Given the description of an element on the screen output the (x, y) to click on. 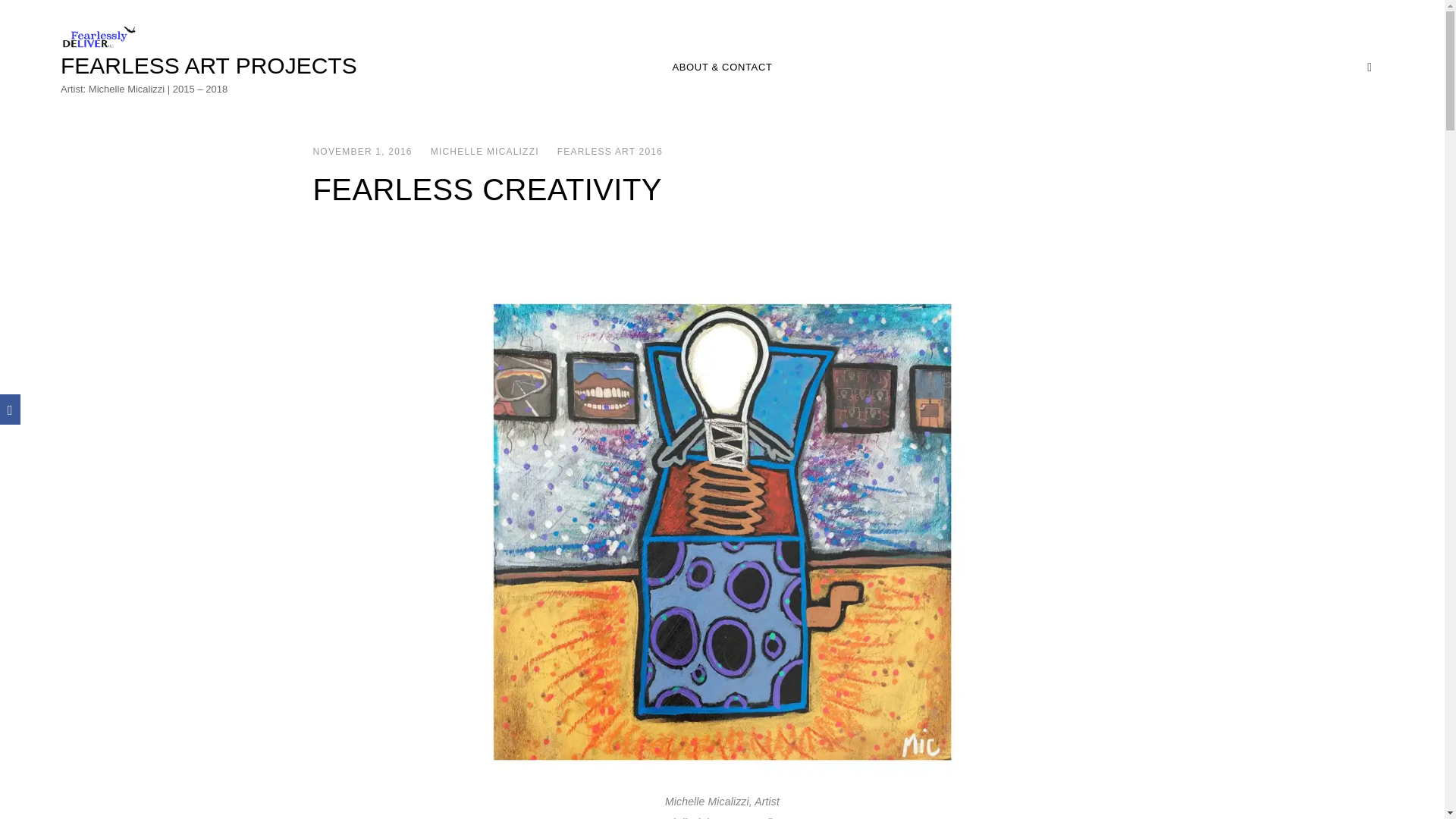
MICHELLE MICALIZZI (484, 151)
NOVEMBER 1, 2016 (362, 151)
FEARLESS ART 2016 (609, 151)
FEARLESS ART PROJECTS (208, 65)
